Given the description of an element on the screen output the (x, y) to click on. 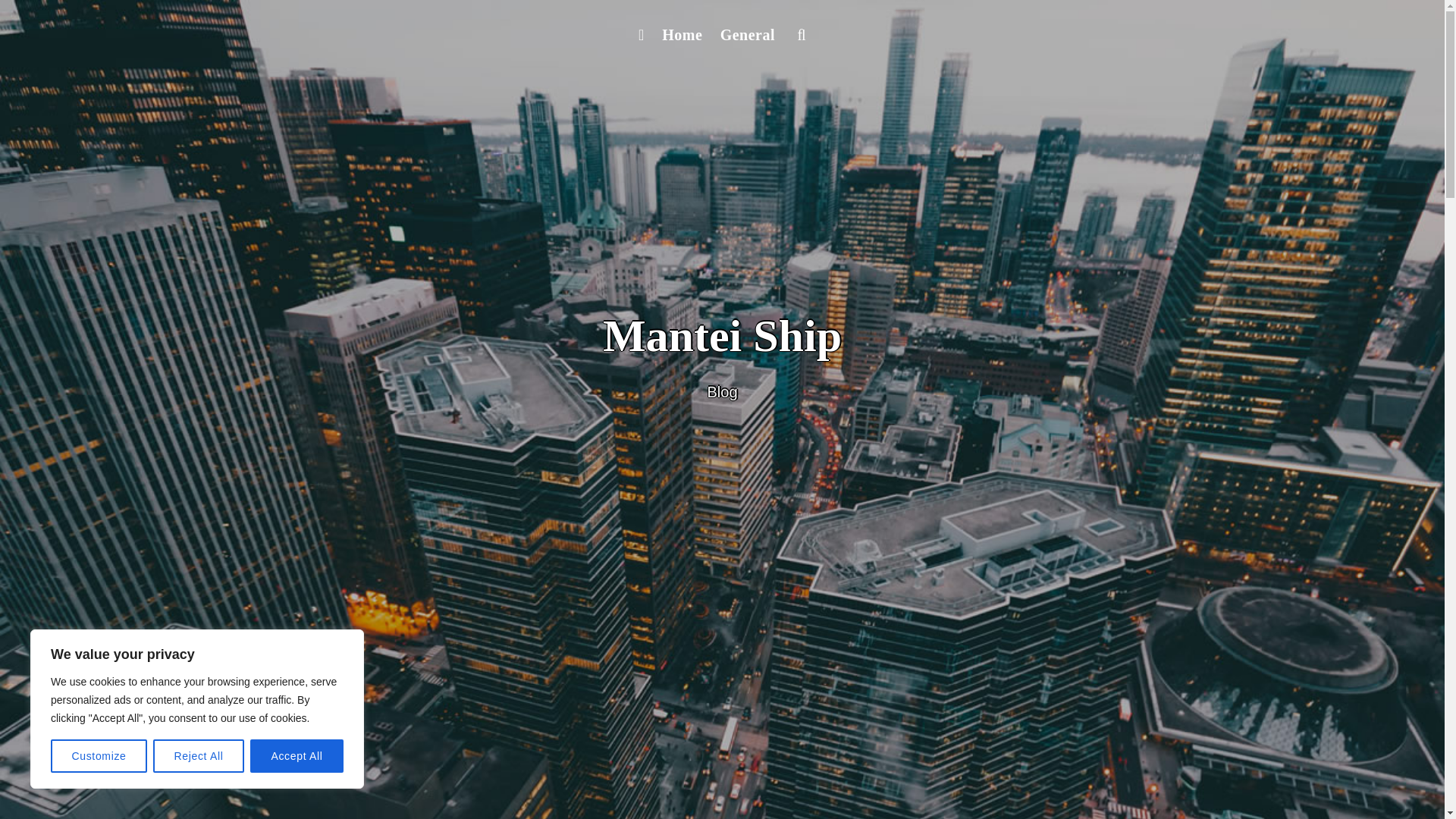
Customize (98, 756)
General (747, 35)
Accept All (296, 756)
Home (681, 35)
Reject All (198, 756)
Mantei Ship (721, 336)
